Given the description of an element on the screen output the (x, y) to click on. 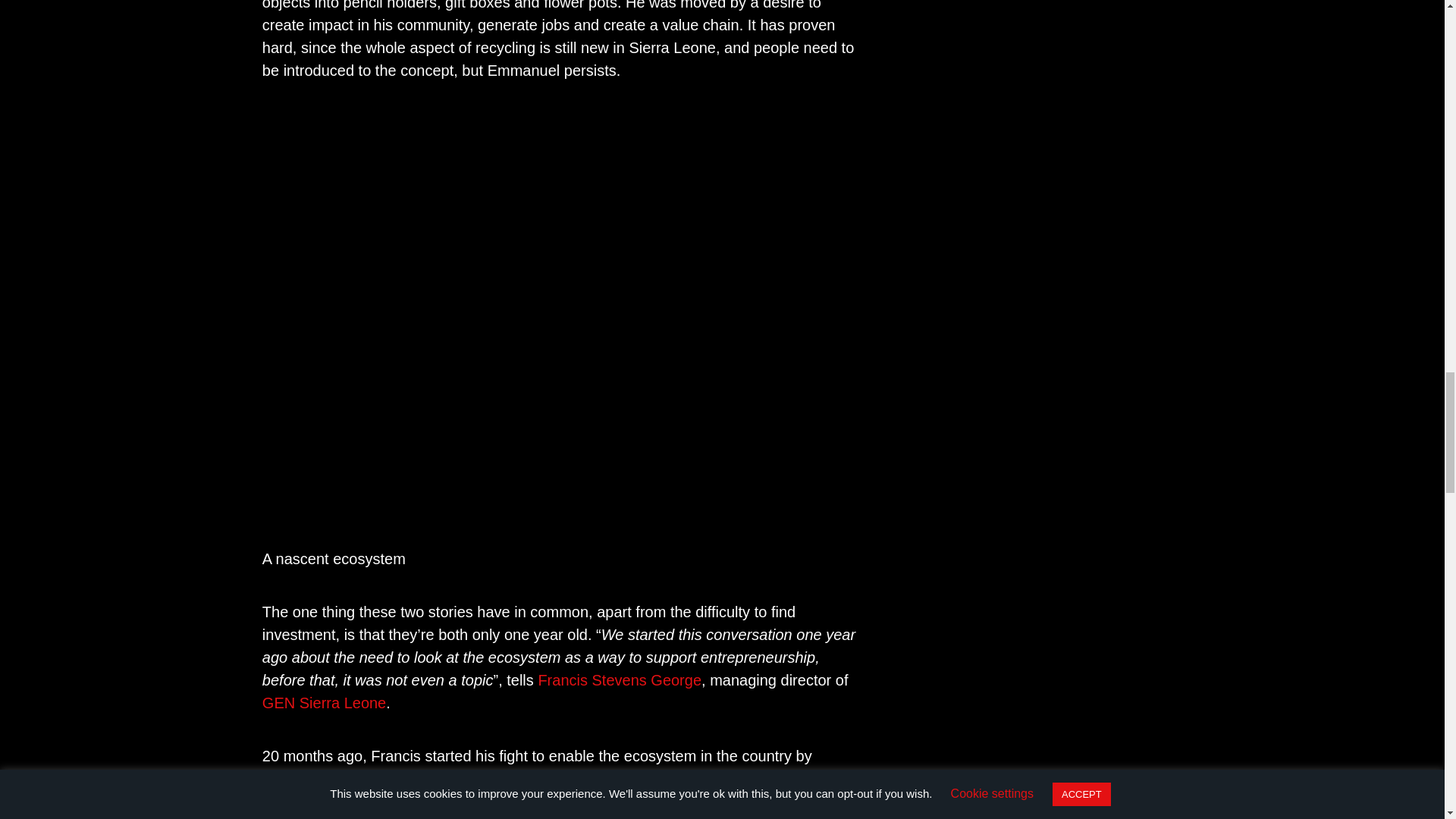
GEN Sierra Leone (323, 702)
Francis Stevens George (619, 679)
